Given the description of an element on the screen output the (x, y) to click on. 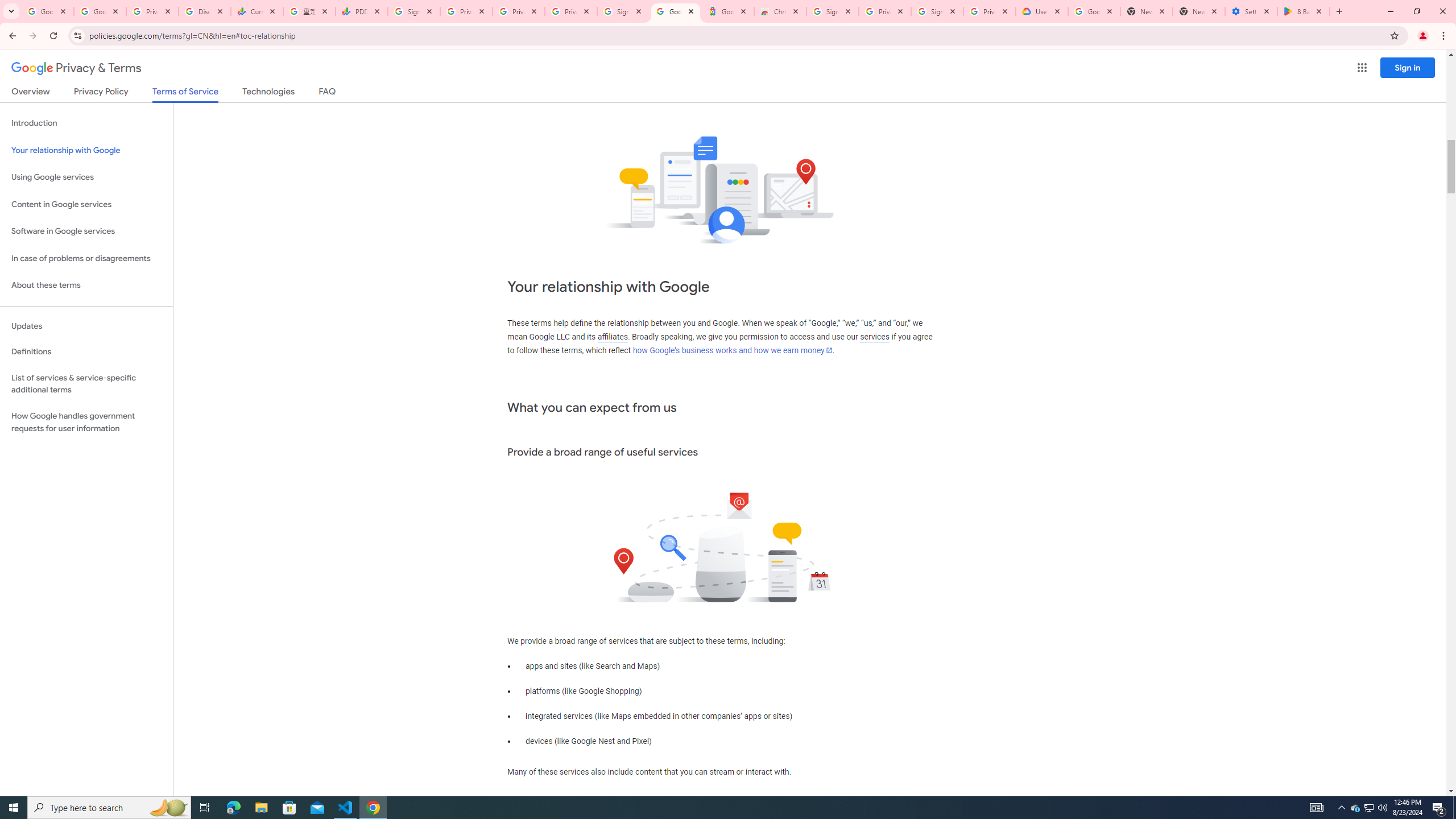
Using Google services (86, 176)
New Tab (1198, 11)
Your relationship with Google (86, 150)
Sign in - Google Accounts (831, 11)
affiliates (611, 336)
PDD Holdings Inc - ADR (PDD) Price & News - Google Finance (361, 11)
Sign in - Google Accounts (623, 11)
